Given the description of an element on the screen output the (x, y) to click on. 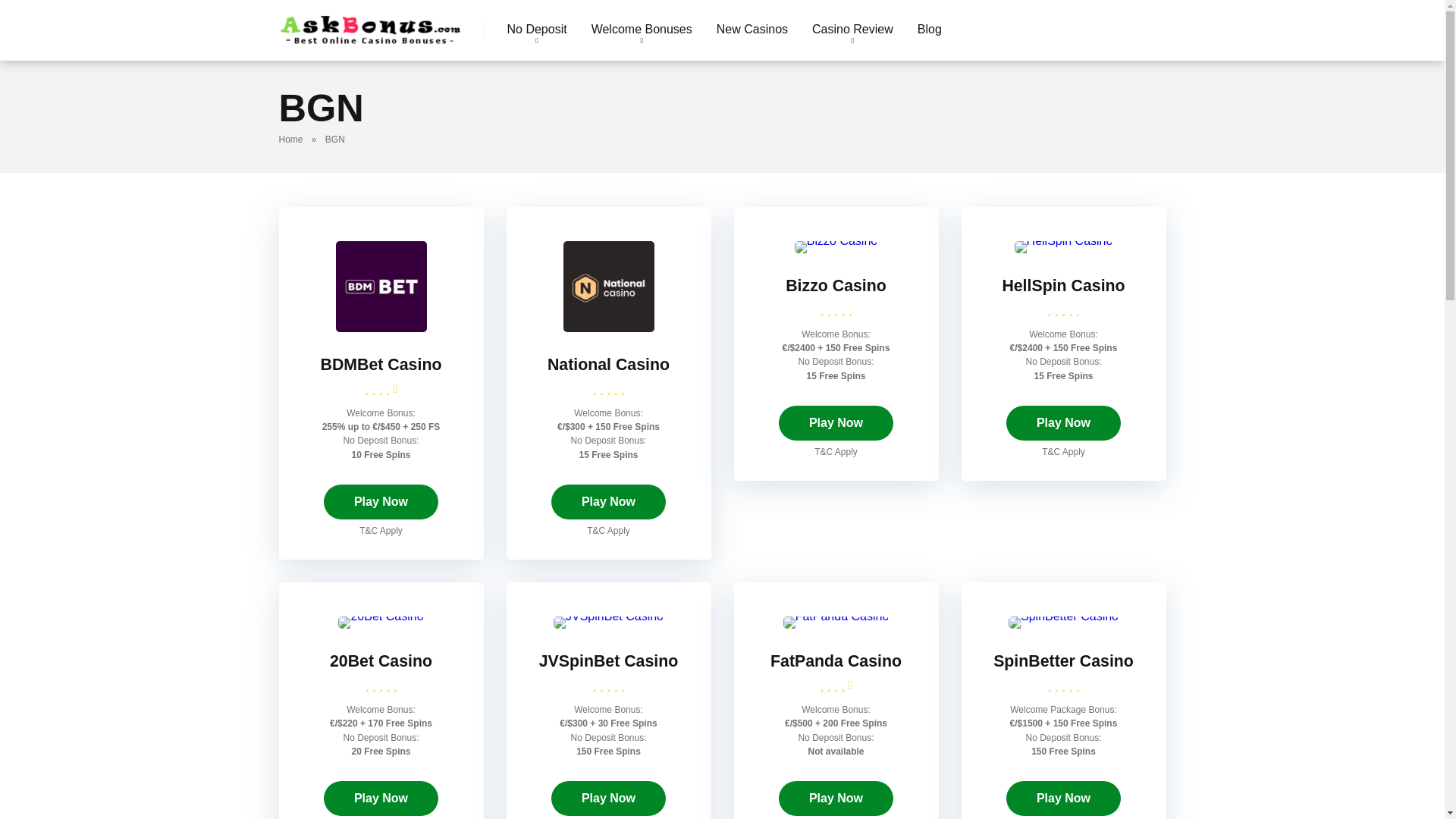
Play Now (380, 798)
20Bet Casino (381, 660)
Play Now (608, 798)
Welcome Bonuses (641, 30)
JVSpinBet Casino (608, 660)
Bizzo Casino (835, 240)
National Casino (608, 364)
New Casinos (751, 30)
20Bet Casino (380, 615)
No Deposit (536, 30)
AskBonus - Best Bonuses 2024 (371, 24)
BDMBet Casino (381, 364)
Bizzo Casino (836, 285)
Play Now (1063, 422)
Play Now (835, 422)
